Given the description of an element on the screen output the (x, y) to click on. 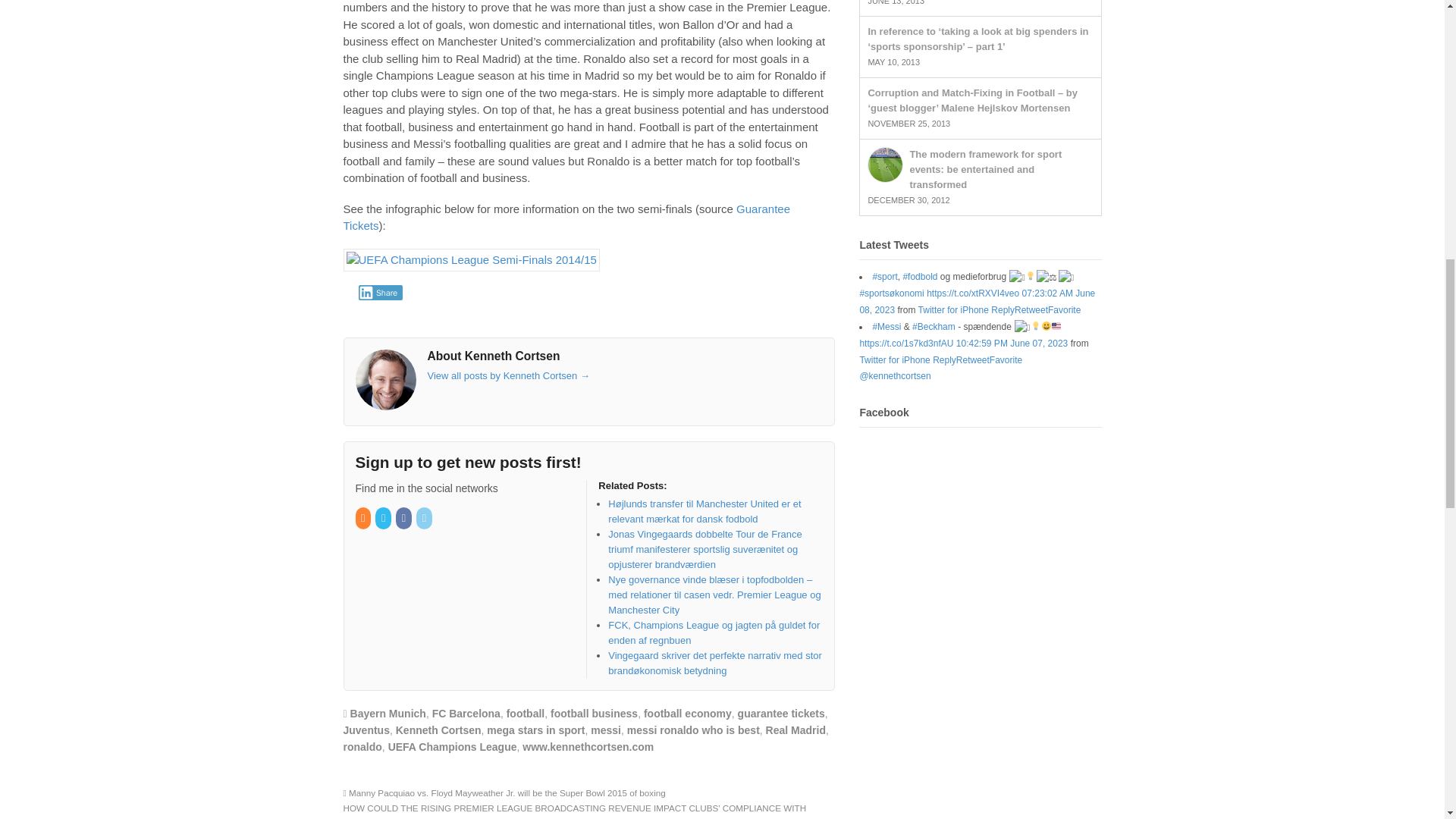
Twitter (384, 518)
RSS (363, 518)
Share (380, 292)
LinkedIn (424, 518)
Guarantee Tickets (565, 217)
Facebook (404, 518)
Guarantee Tickets (565, 217)
